Given the description of an element on the screen output the (x, y) to click on. 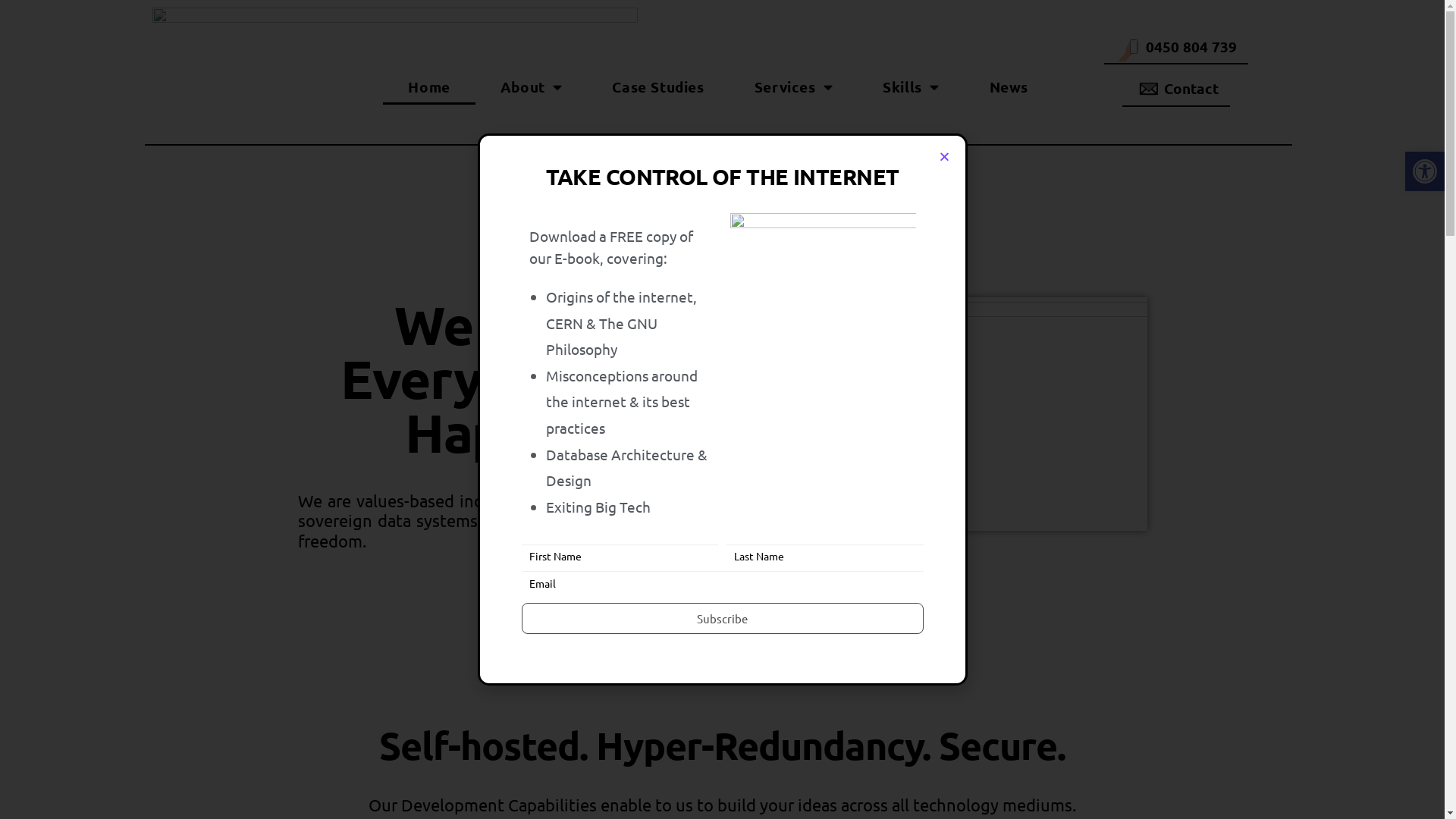
0450 804 739 Element type: text (1176, 46)
Open toolbar
Accessibility Tools Element type: text (1424, 171)
Contact Element type: text (1176, 89)
Case Studies Element type: text (657, 86)
Services Element type: text (793, 86)
Subscribe Element type: text (722, 617)
Home Element type: text (428, 86)
Skills Element type: text (910, 86)
About Element type: text (531, 86)
News Element type: text (1007, 86)
